Given the description of an element on the screen output the (x, y) to click on. 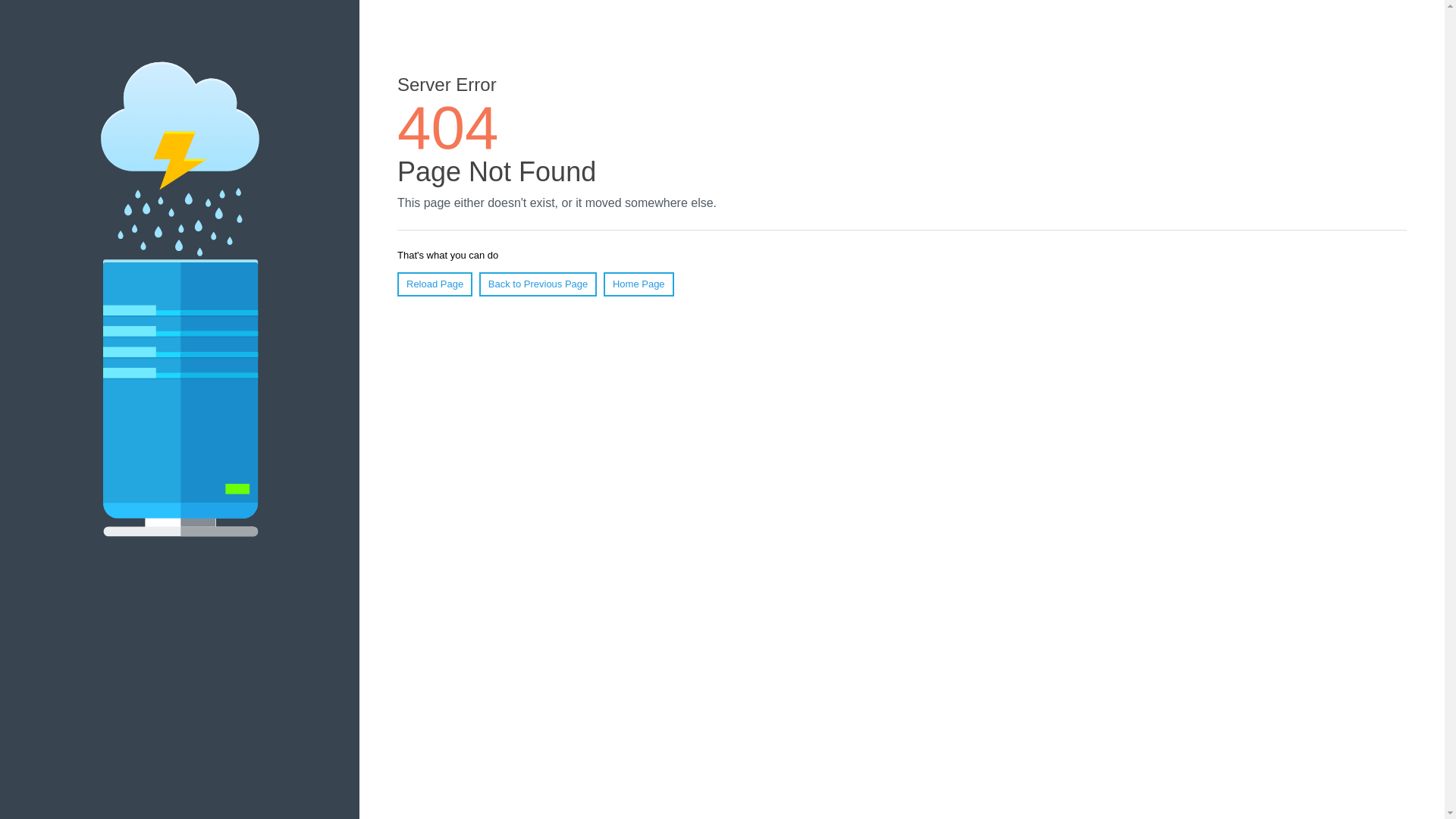
Home Page Element type: text (638, 284)
Back to Previous Page Element type: text (538, 284)
Reload Page Element type: text (434, 284)
